Given the description of an element on the screen output the (x, y) to click on. 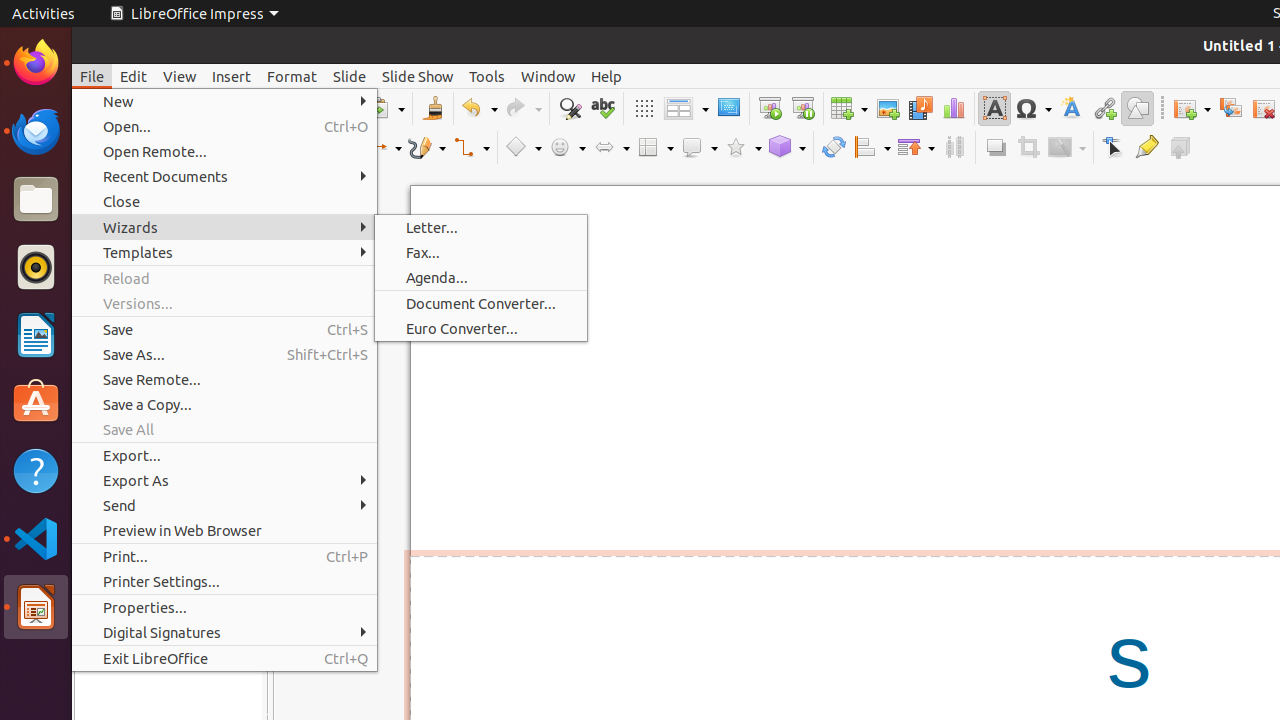
View Element type: menu (179, 76)
File Element type: menu (92, 76)
Slide Element type: menu (349, 76)
Open Remote... Element type: menu-item (224, 151)
Save All Element type: menu-item (224, 429)
